Given the description of an element on the screen output the (x, y) to click on. 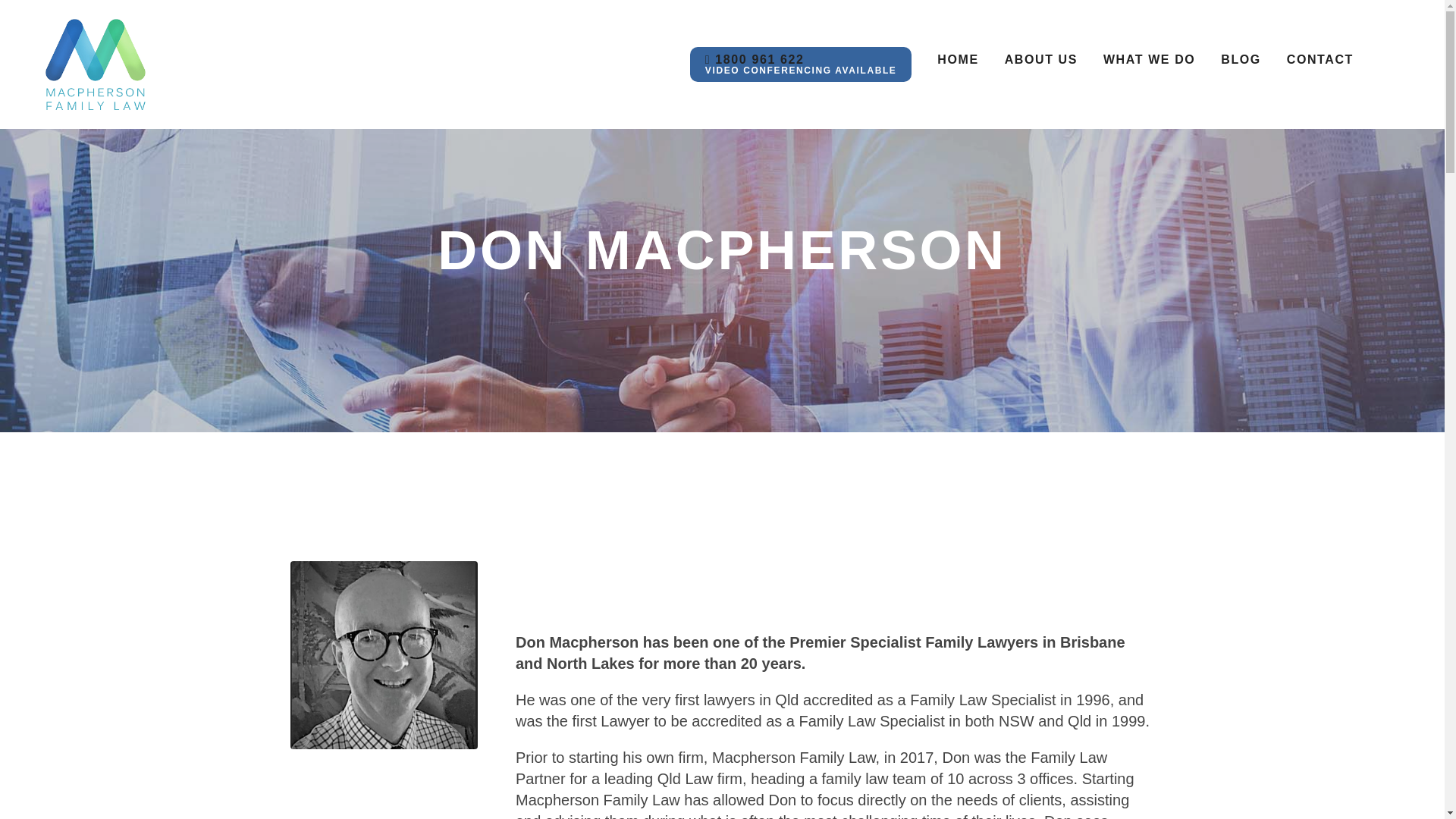
ABOUT US (800, 63)
HOME (1040, 59)
BLOG (957, 59)
CONTACT (1240, 59)
Don-B-and-w-sq (1320, 59)
WHAT WE DO (383, 655)
